Given the description of an element on the screen output the (x, y) to click on. 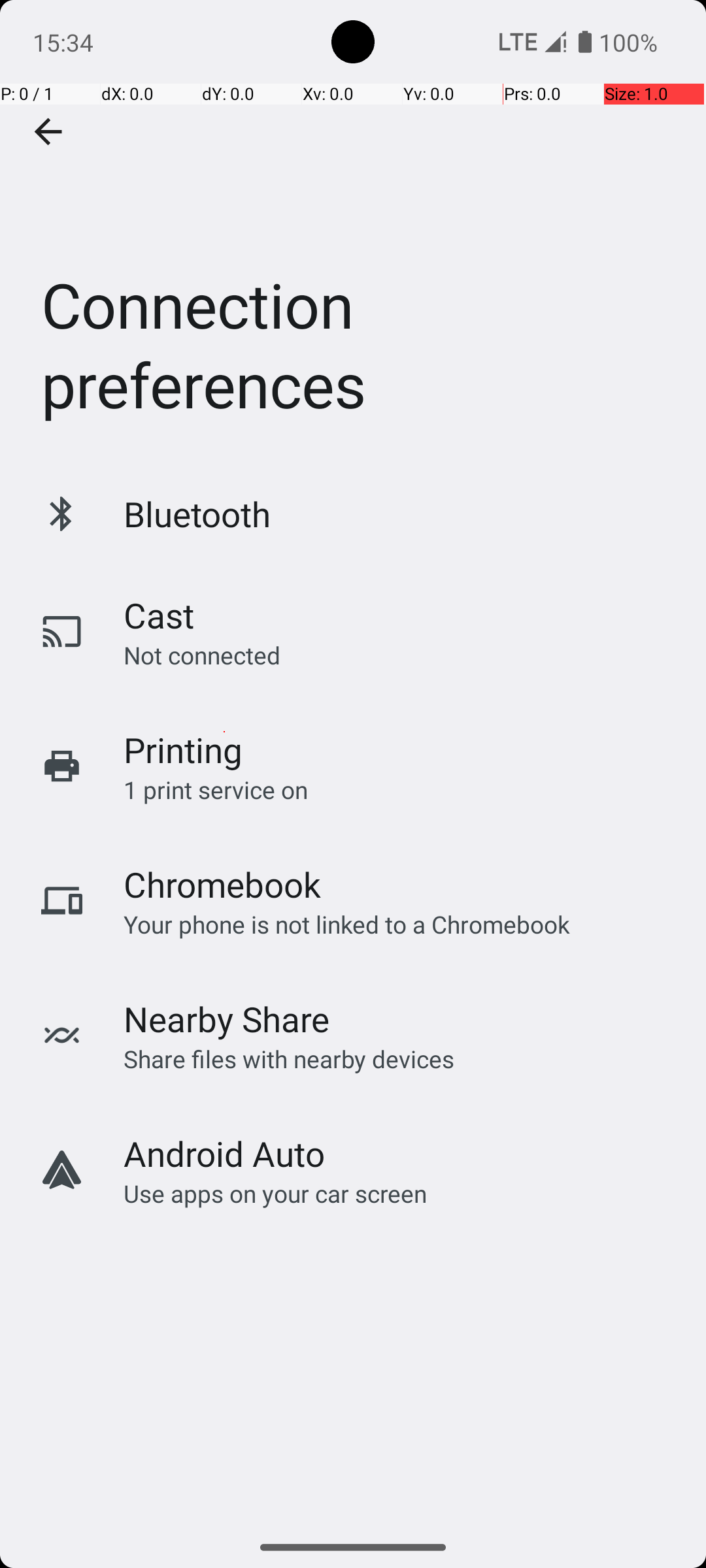
Connection preferences Element type: android.widget.FrameLayout (353, 231)
Bluetooth Element type: android.widget.TextView (197, 513)
Cast Element type: android.widget.TextView (158, 614)
Not connected Element type: android.widget.TextView (201, 654)
Printing Element type: android.widget.TextView (182, 749)
1 print service on Element type: android.widget.TextView (215, 789)
Chromebook Element type: android.widget.TextView (222, 884)
Your phone is not linked to a Chromebook Element type: android.widget.TextView (346, 923)
Nearby Share Element type: android.widget.TextView (226, 1018)
Share files with nearby devices Element type: android.widget.TextView (288, 1058)
Use apps on your car screen Element type: android.widget.TextView (275, 1192)
